Given the description of an element on the screen output the (x, y) to click on. 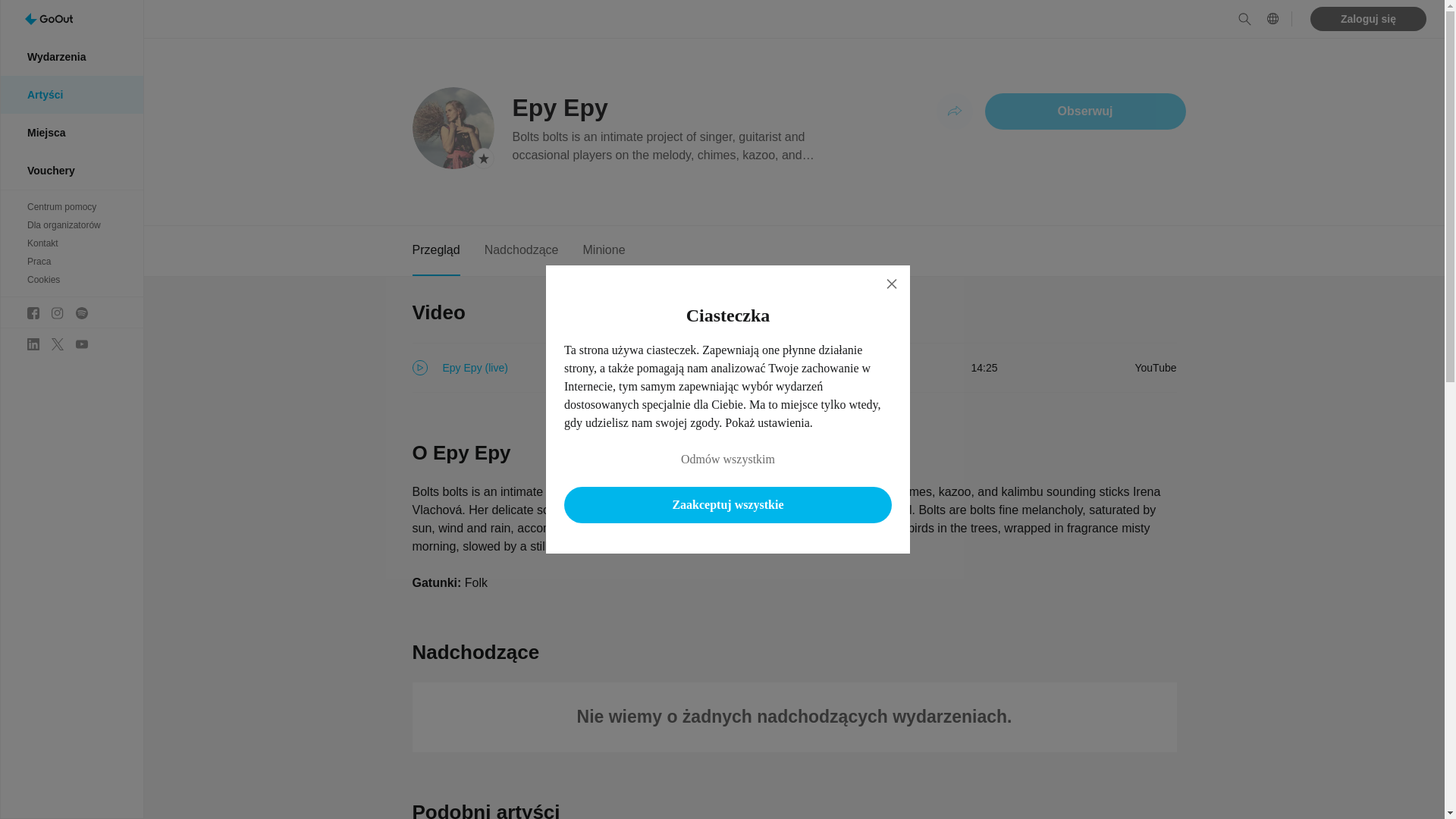
Folk (475, 582)
Kontakt (71, 243)
Vouchery (71, 170)
Wydarzenia (71, 56)
Obserwuj (1085, 110)
Centrum pomocy (71, 207)
Praca (71, 261)
Miejsca (71, 132)
